Given the description of an element on the screen output the (x, y) to click on. 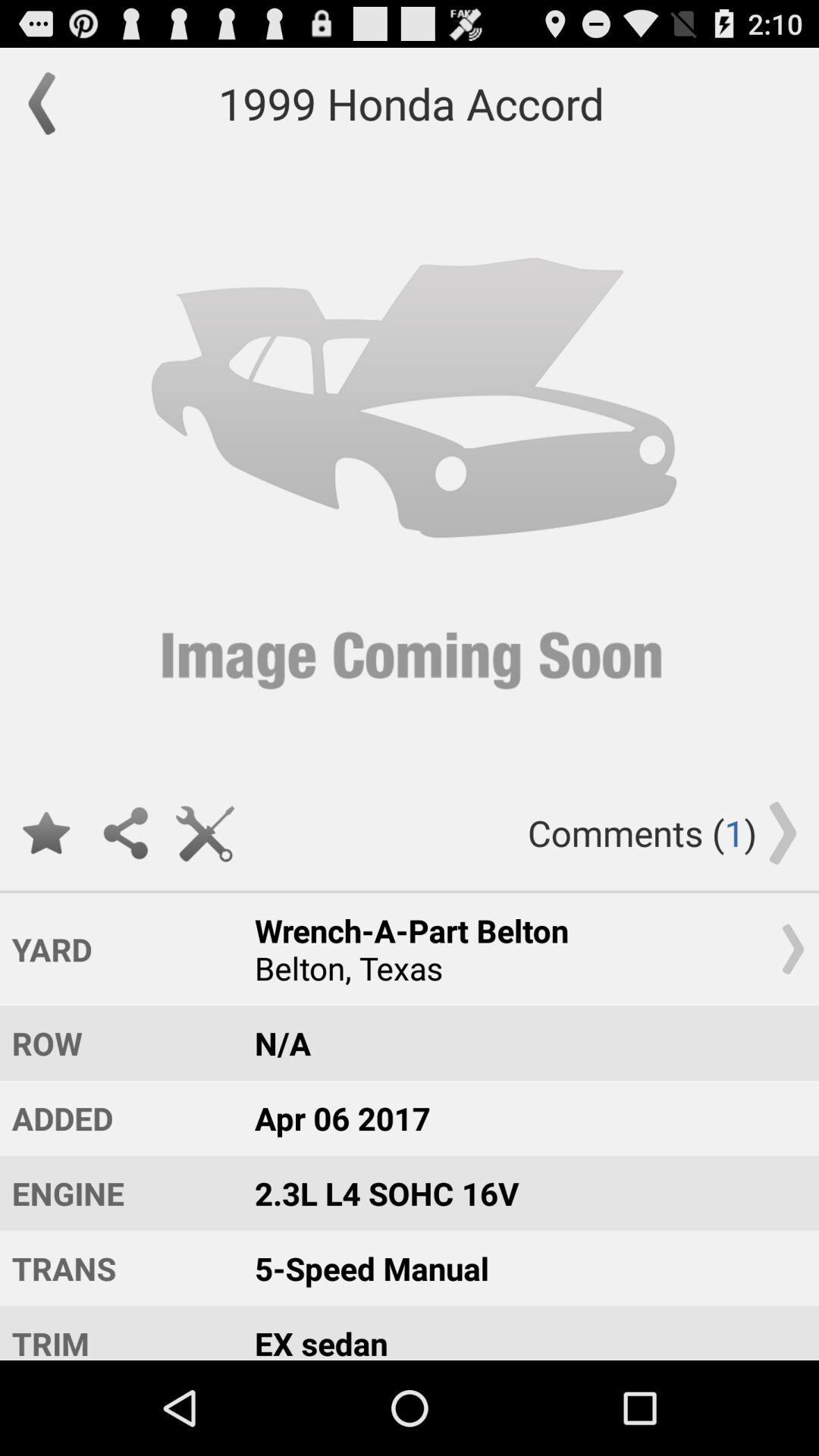
turn off icon above wrench a part app (205, 833)
